Given the description of an element on the screen output the (x, y) to click on. 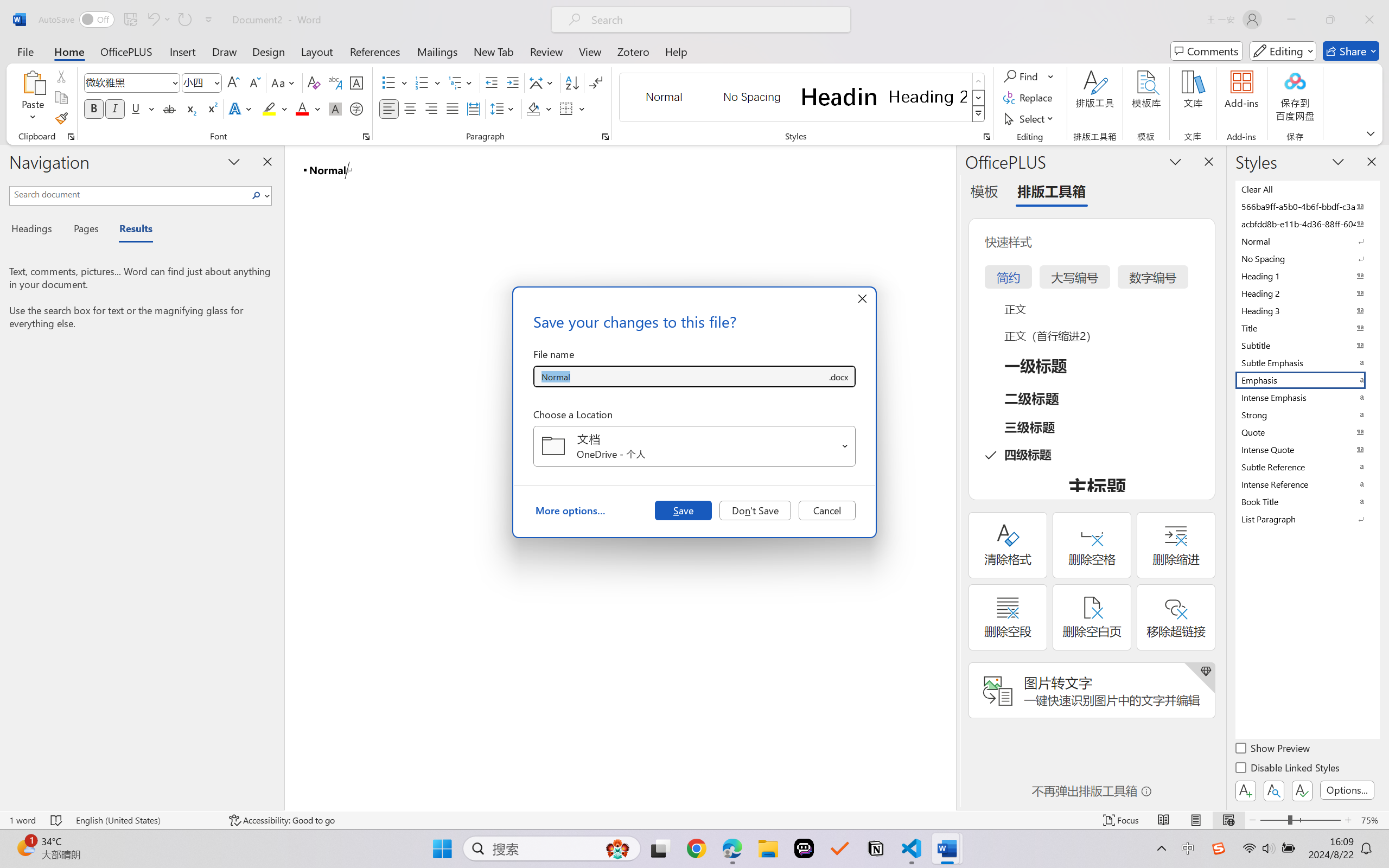
Search (259, 195)
Subtle Reference (1306, 466)
Asian Layout (542, 82)
Quick Access Toolbar (127, 19)
Numbering (428, 82)
Share (1350, 51)
Bullets (395, 82)
Save (682, 509)
Text Effects and Typography (241, 108)
Office Clipboard... (70, 136)
Show/Hide Editing Marks (595, 82)
AutomationID: BadgeAnchorLargeTicker (24, 847)
